Given the description of an element on the screen output the (x, y) to click on. 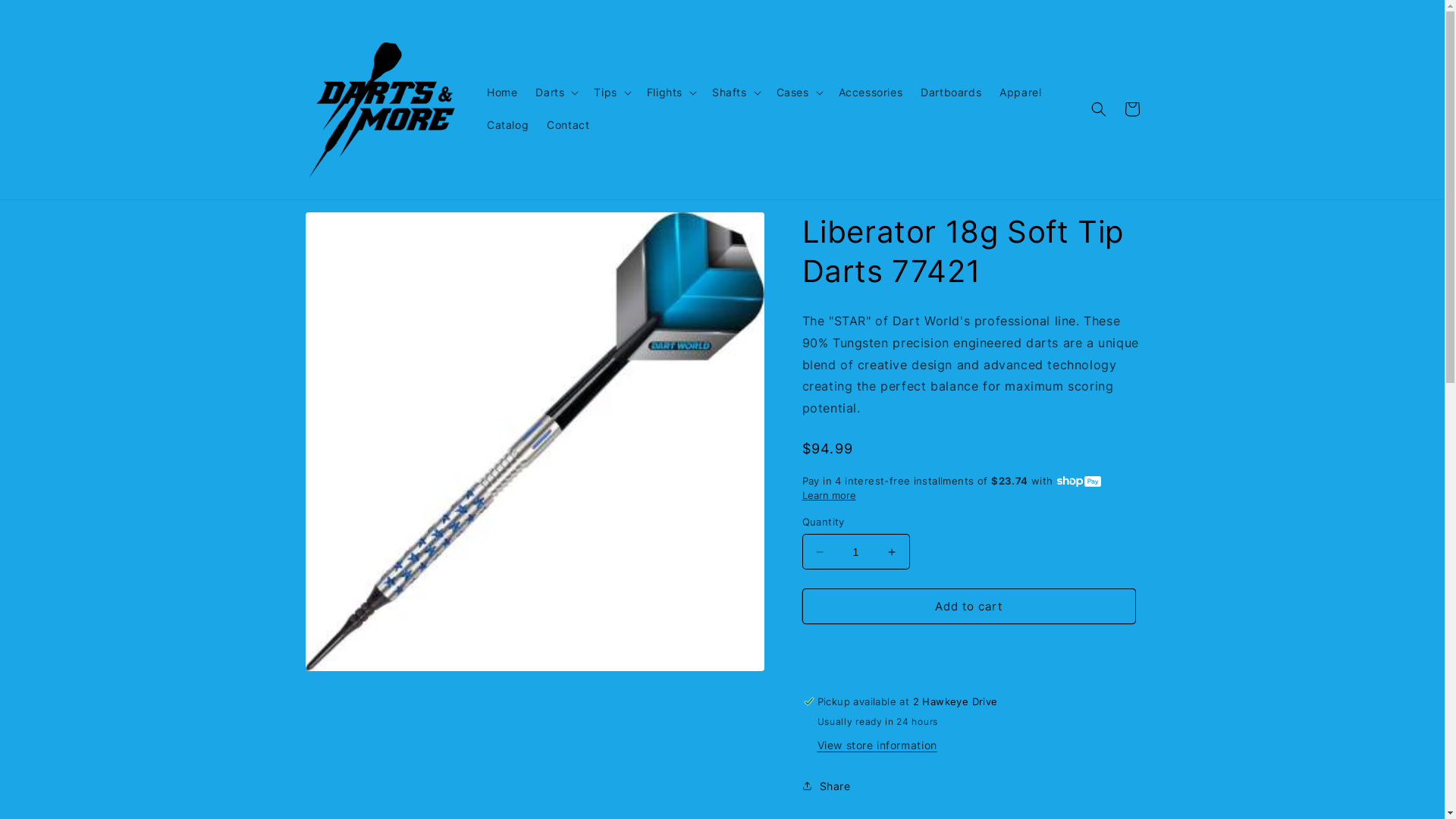
Skip to product information Element type: text (350, 229)
Decrease quantity for Liberator 18g Soft Tip Darts 77421 Element type: text (819, 551)
Increase quantity for Liberator 18g Soft Tip Darts 77421 Element type: text (892, 551)
Accessories Element type: text (870, 92)
Cart Element type: text (1131, 108)
Catalog Element type: text (507, 125)
View store information Element type: text (877, 745)
Contact Element type: text (567, 125)
Dartboards Element type: text (950, 92)
Add to cart Element type: text (968, 606)
Apparel Element type: text (1020, 92)
Home Element type: text (501, 92)
